Given the description of an element on the screen output the (x, y) to click on. 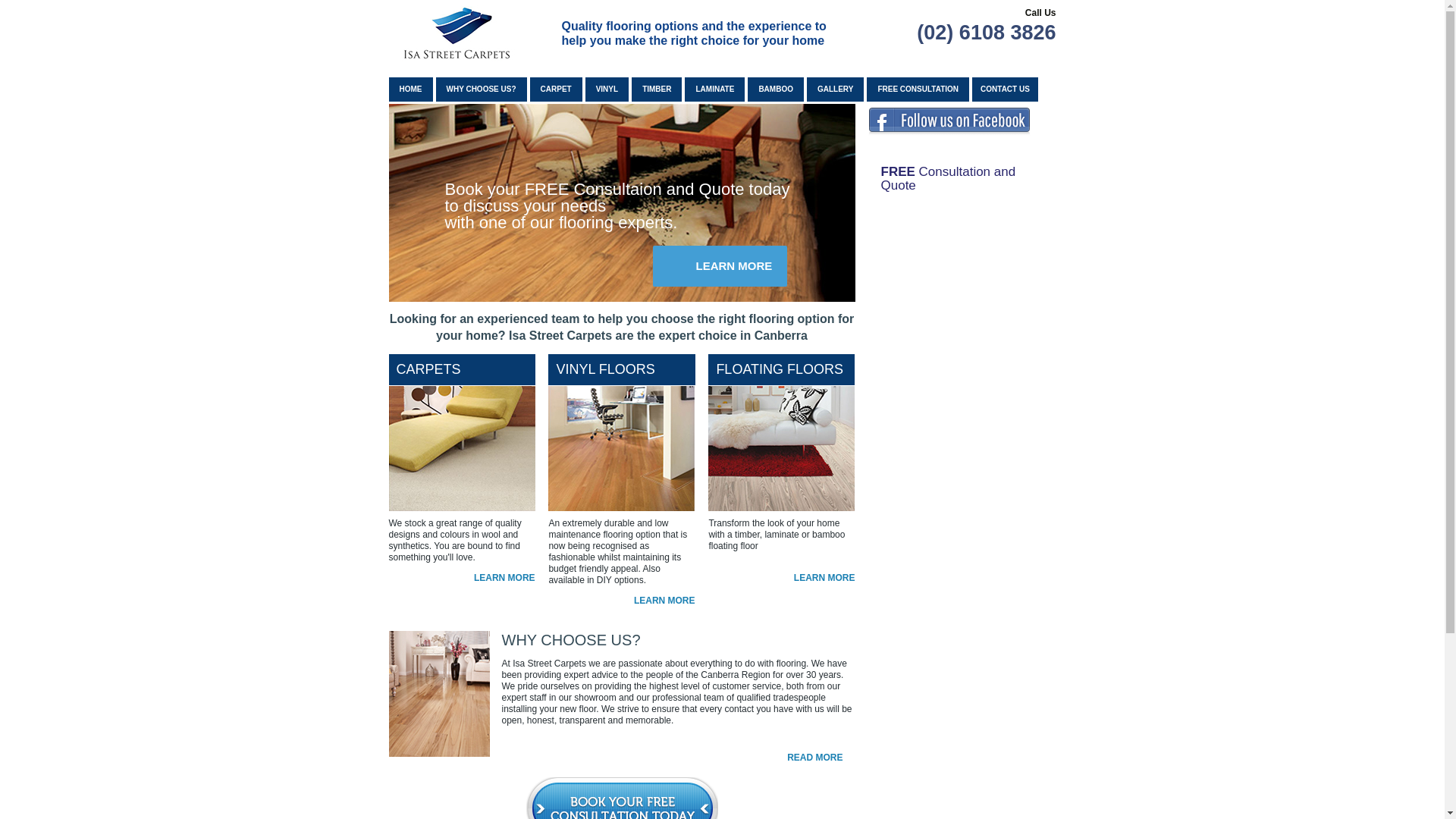
LEARN MORE Element type: text (656, 600)
READ MORE Element type: text (806, 757)
WHY CHOOSE US? Element type: text (480, 89)
CARPET Element type: text (556, 89)
VINYL Element type: text (606, 89)
LEARN MORE Element type: text (726, 265)
TIMBER Element type: text (656, 89)
FREE CONSULTATION Element type: text (917, 89)
LEARN MORE Element type: text (496, 577)
GALLERY Element type: text (834, 89)
(02) 6108 3826 Element type: text (971, 32)
LAMINATE Element type: text (714, 89)
HOME Element type: text (410, 89)
BAMBOO Element type: text (775, 89)
LEARN MORE Element type: text (816, 577)
CONTACT US Element type: text (1005, 89)
